Given the description of an element on the screen output the (x, y) to click on. 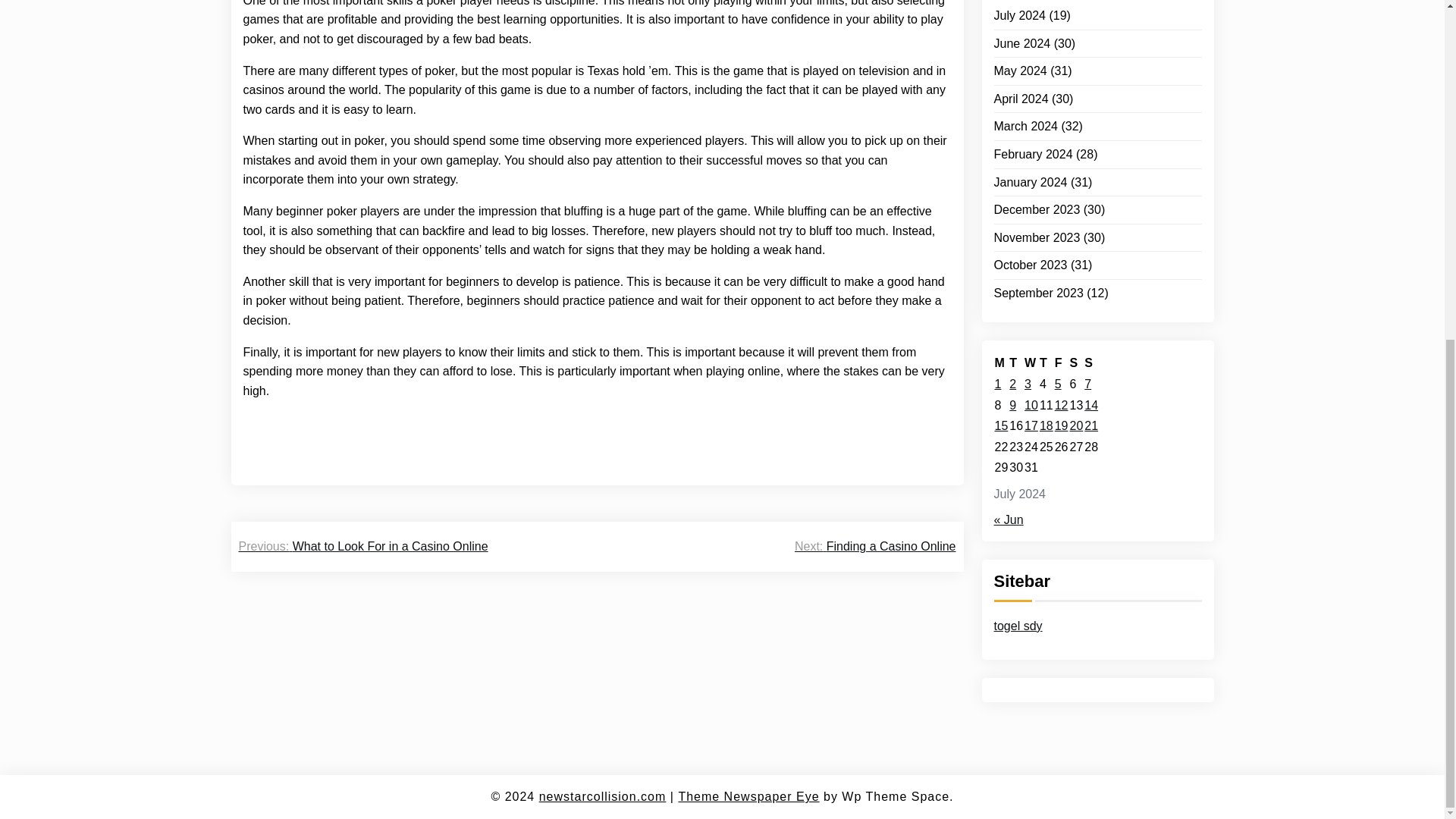
September 2023 (1037, 275)
February 2024 (1031, 136)
October 2023 (1029, 247)
April 2024 (1020, 80)
July 2024 (1018, 3)
January 2024 (1029, 163)
November 2023 (1036, 219)
May 2024 (1019, 53)
Previous: What to Look For in a Casino Online (362, 546)
June 2024 (1020, 25)
March 2024 (1025, 107)
Next: Finding a Casino Online (875, 546)
December 2023 (1036, 191)
